Given the description of an element on the screen output the (x, y) to click on. 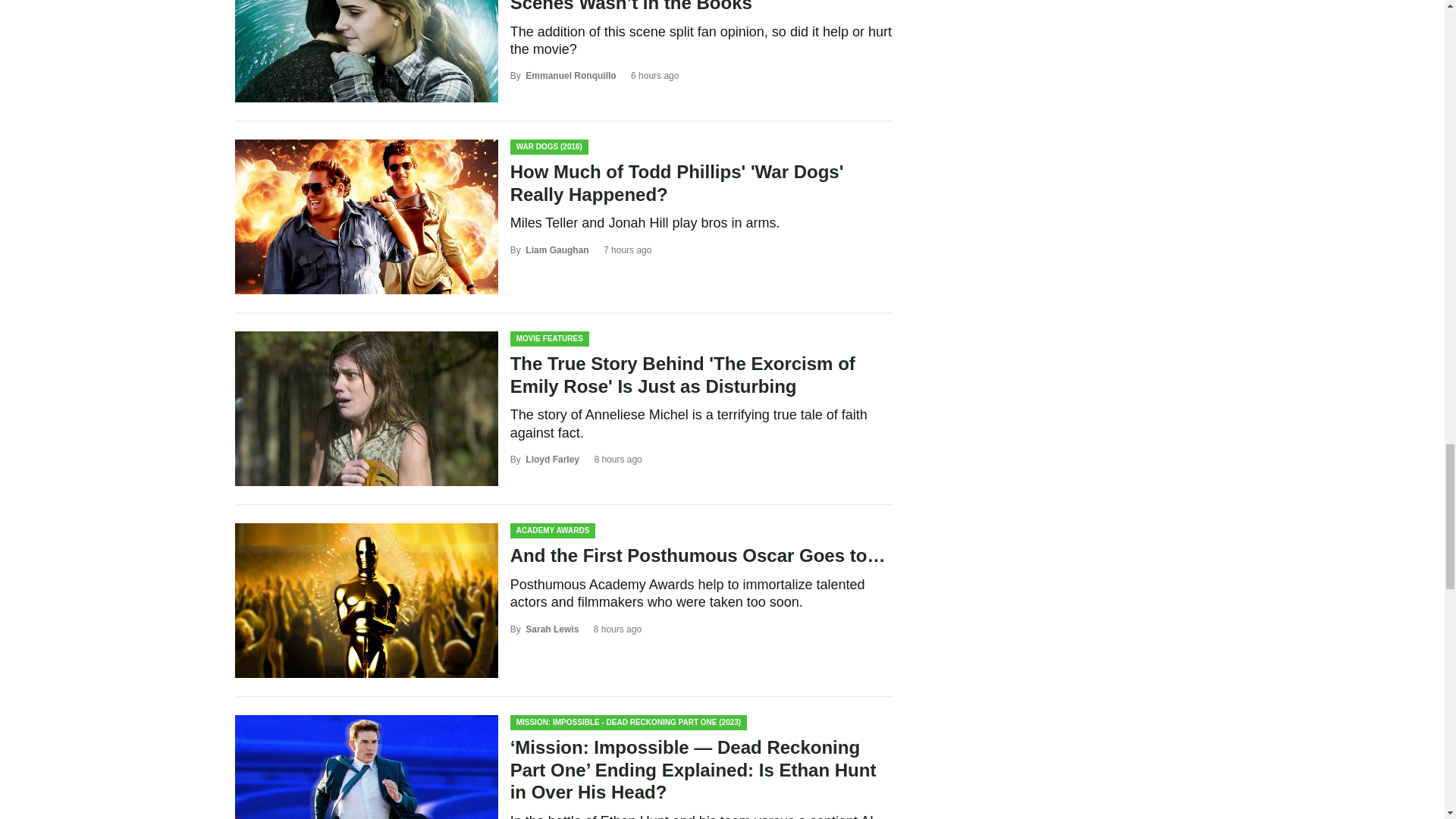
Posts by Lloyd Farley (552, 459)
Posts by Emmanuel Ronquillo (570, 75)
Posts by Liam Gaughan (556, 249)
Posts by Sarah Lewis (551, 629)
